Given the description of an element on the screen output the (x, y) to click on. 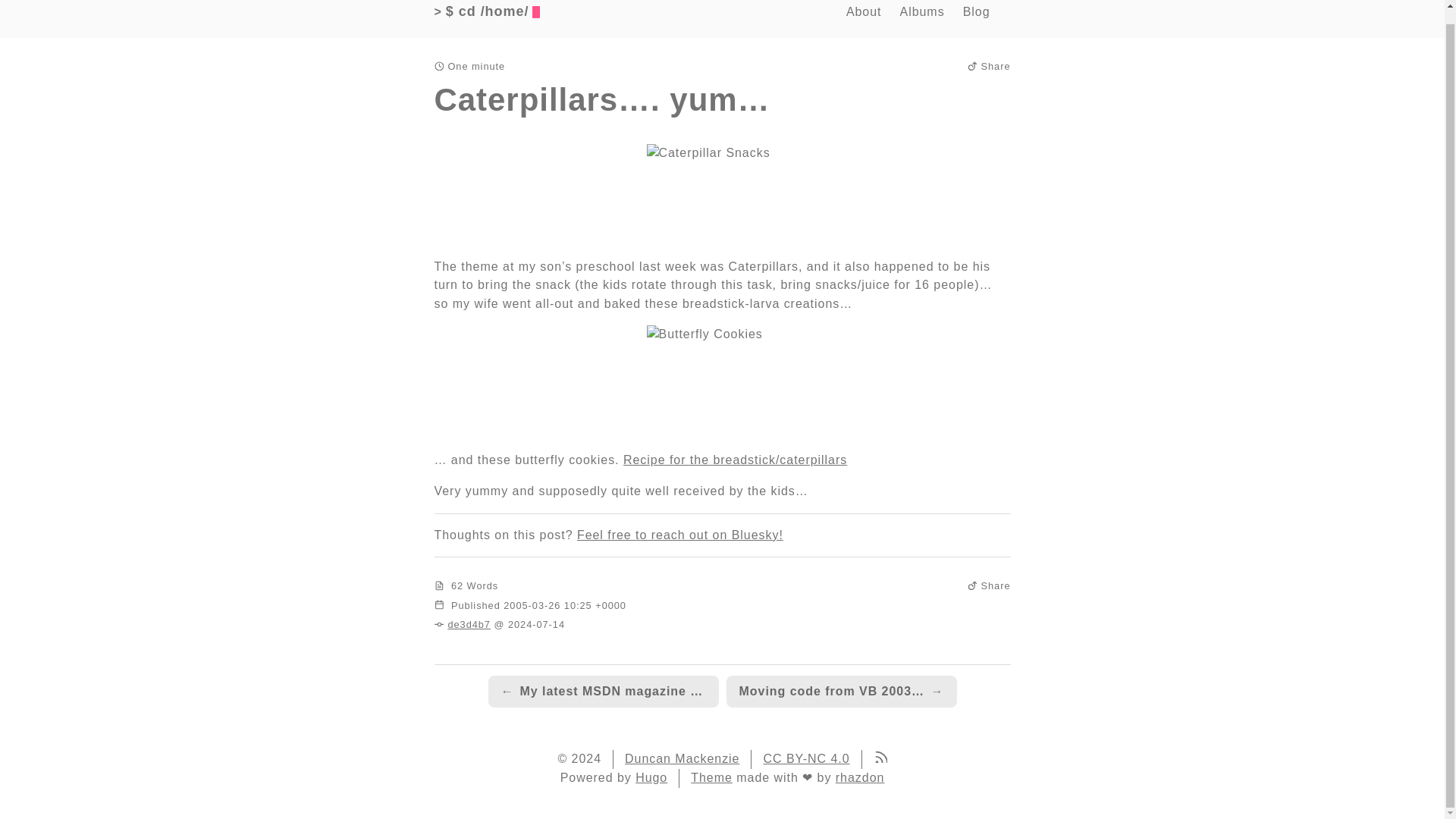
Theme (711, 777)
CC BY-NC 4.0 (805, 758)
Albums (921, 12)
Blog (976, 12)
Share (989, 585)
About (863, 12)
rhazdon (860, 777)
Duncan Mackenzie (681, 758)
Share (989, 66)
rss (879, 758)
Feel free to reach out on Bluesky! (679, 534)
de3d4b7 (468, 624)
Hugo (650, 777)
